Given the description of an element on the screen output the (x, y) to click on. 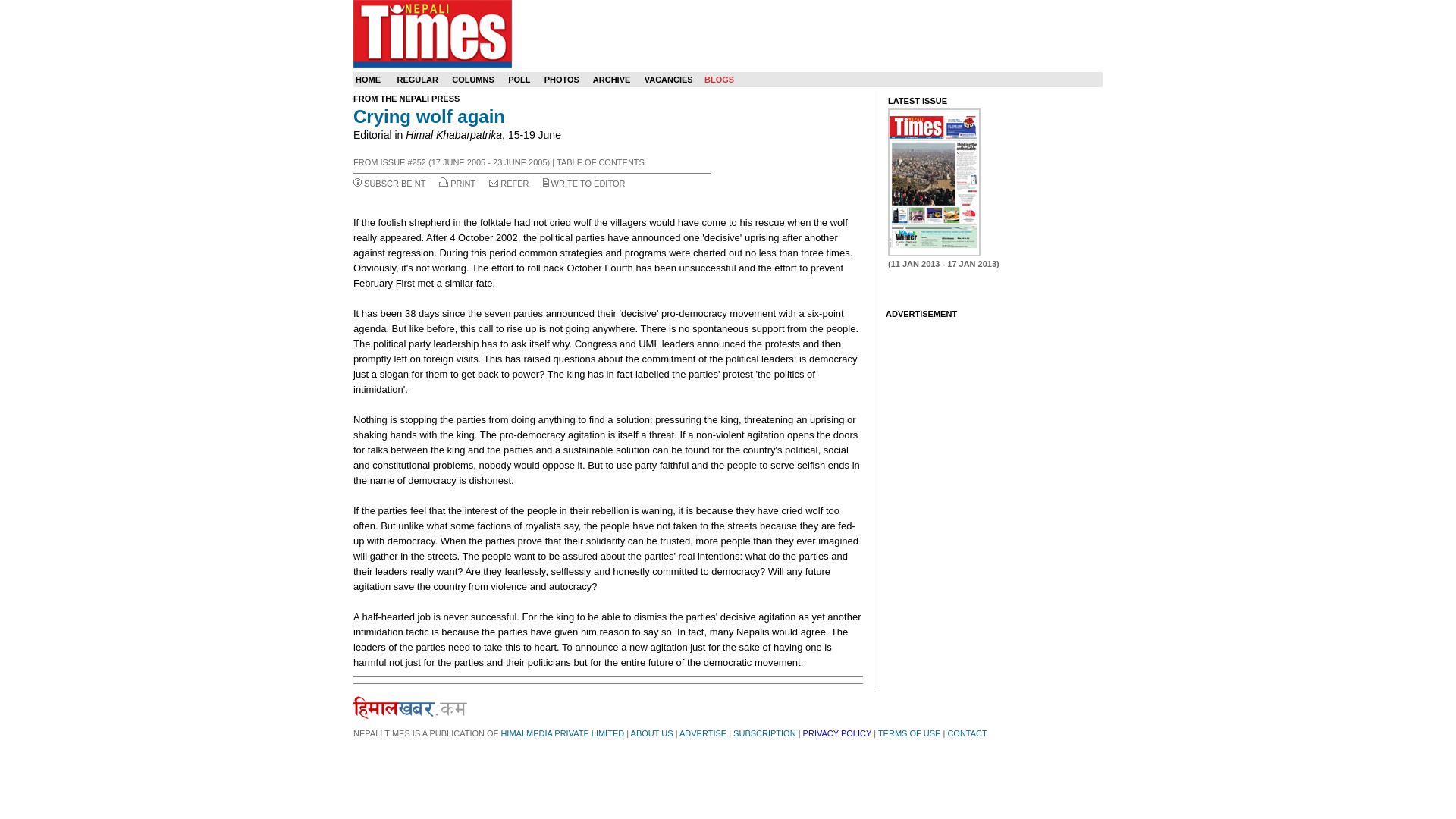
POLL (518, 79)
ARCHIVE (611, 79)
TERMS OF USE (908, 732)
Nepali Times (432, 33)
SUBSCRIPTION (764, 732)
SUBSCRIBE NT (394, 183)
CONTACT (967, 732)
BLOGS (718, 79)
WRITE TO EDITOR (588, 183)
REFER (514, 183)
VACANCIES (669, 79)
ABOUT US (651, 732)
himalkhabar.com (410, 707)
PHOTOS (561, 79)
PRIVACY POLICY (836, 732)
